Given the description of an element on the screen output the (x, y) to click on. 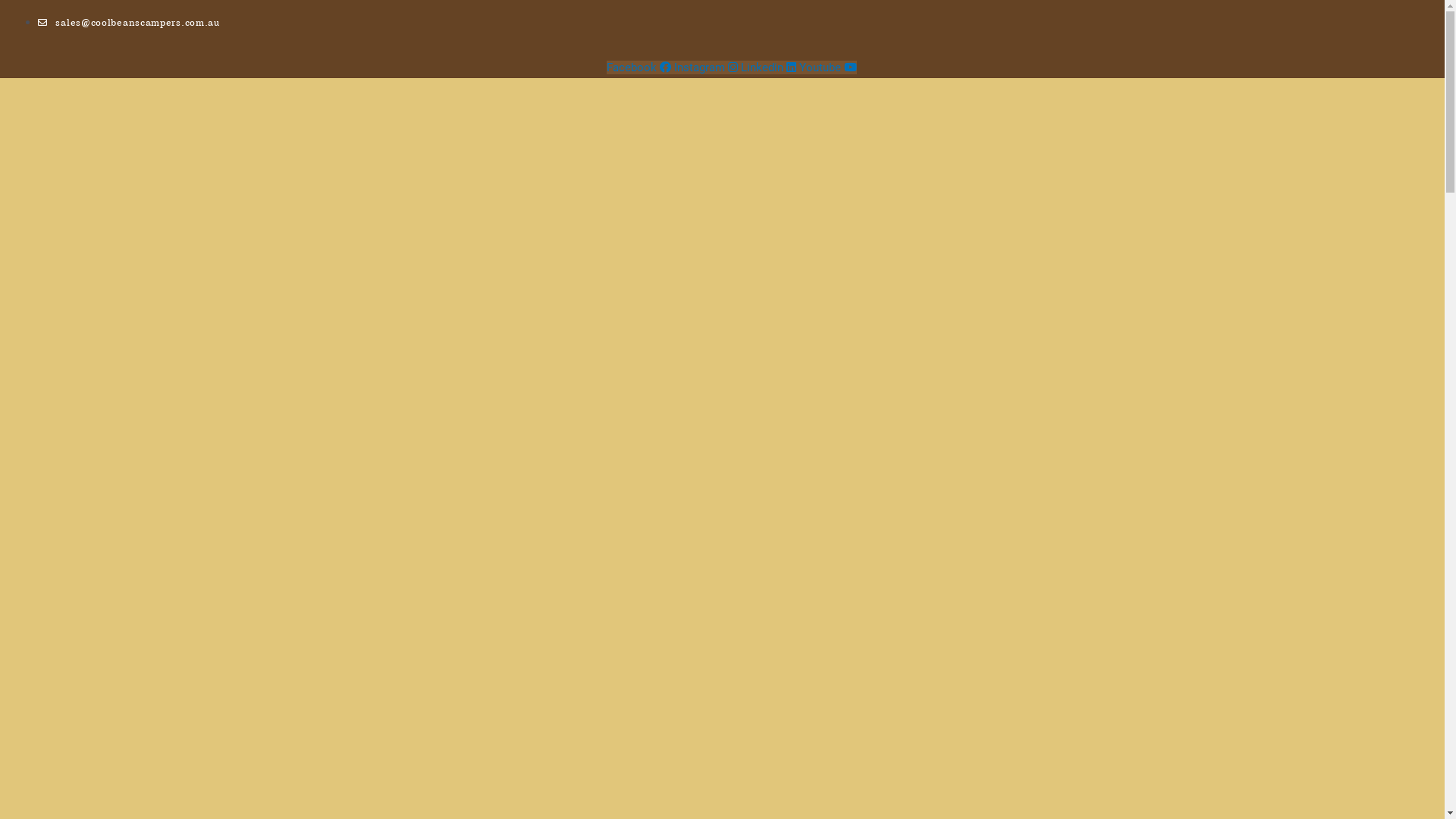
sales@coolbeanscampers.com.au Element type: text (128, 22)
Linkedin Element type: text (769, 67)
Facebook Element type: text (640, 67)
Instagram Element type: text (707, 67)
Youtube Element type: text (827, 67)
